Given the description of an element on the screen output the (x, y) to click on. 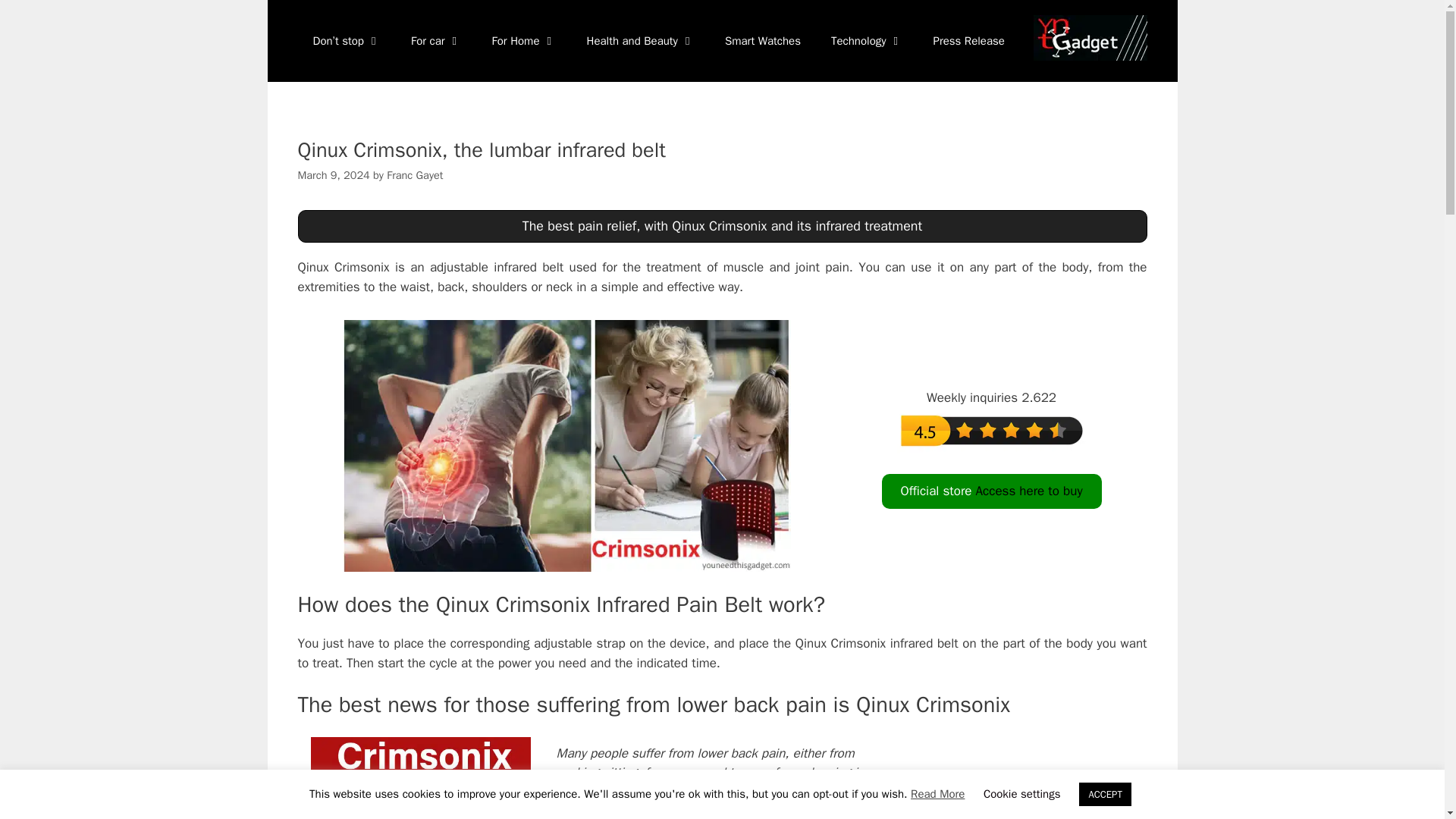
Smart Watches (762, 40)
For car (436, 40)
Health and Beauty (641, 40)
Technology (866, 40)
For Home (524, 40)
View all posts by Franc Gayet (414, 174)
